Given the description of an element on the screen output the (x, y) to click on. 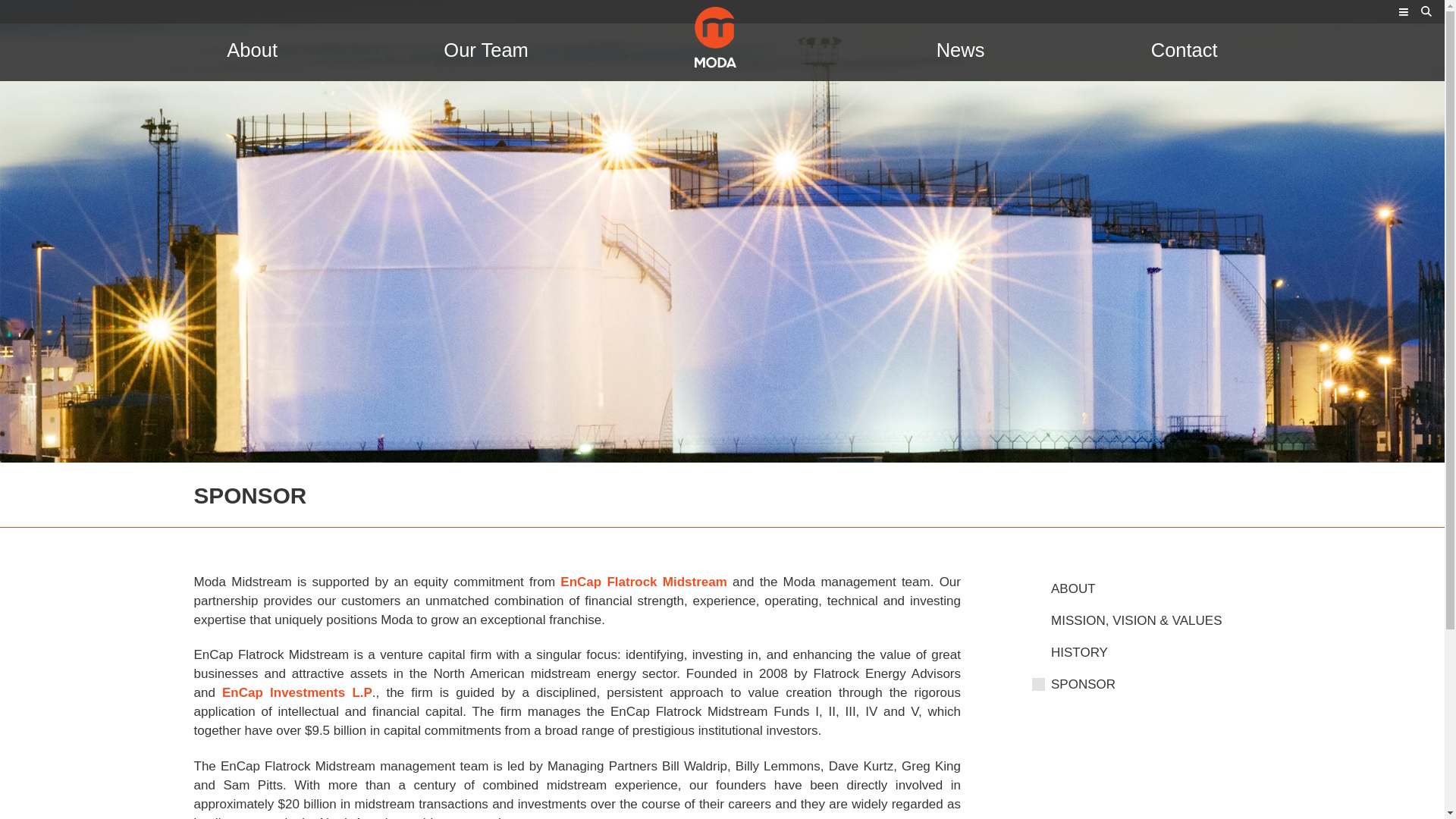
About (252, 49)
Contact (1184, 49)
EnCap Flatrock Midstream (643, 581)
News (960, 49)
Home (721, 40)
Main navigation (1403, 12)
EnCap Investments L.P (297, 692)
ABOUT (1150, 588)
Our Team (486, 49)
